Given the description of an element on the screen output the (x, y) to click on. 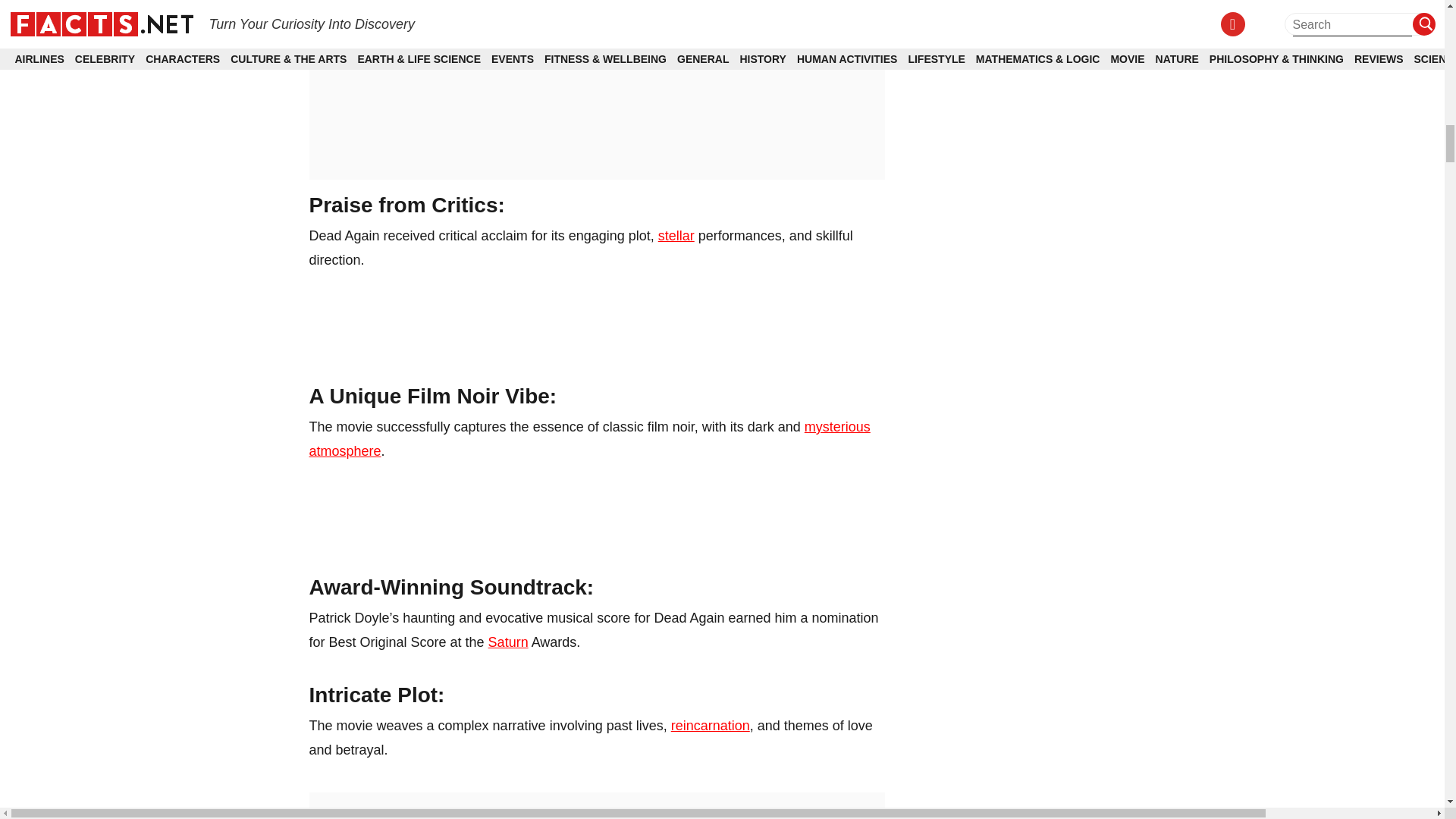
stellar (676, 235)
reincarnation (710, 725)
mysterious atmosphere (589, 438)
Saturn (507, 642)
